Given the description of an element on the screen output the (x, y) to click on. 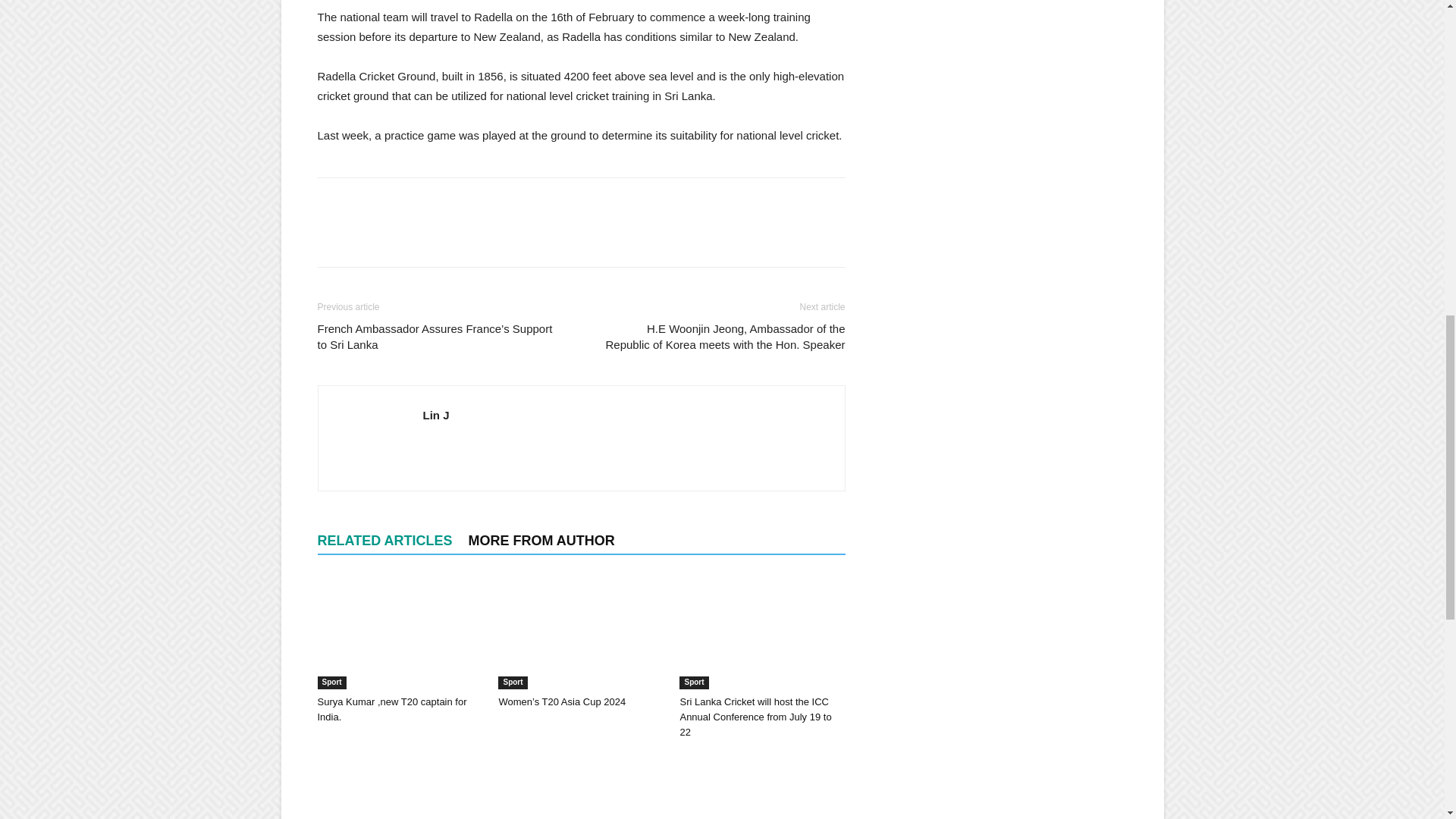
India cricket tour of Sri Lanka (399, 785)
Surya Kumar ,new T20 captain for India. (399, 632)
Surya Kumar ,new T20 captain for India. (391, 709)
